Given the description of an element on the screen output the (x, y) to click on. 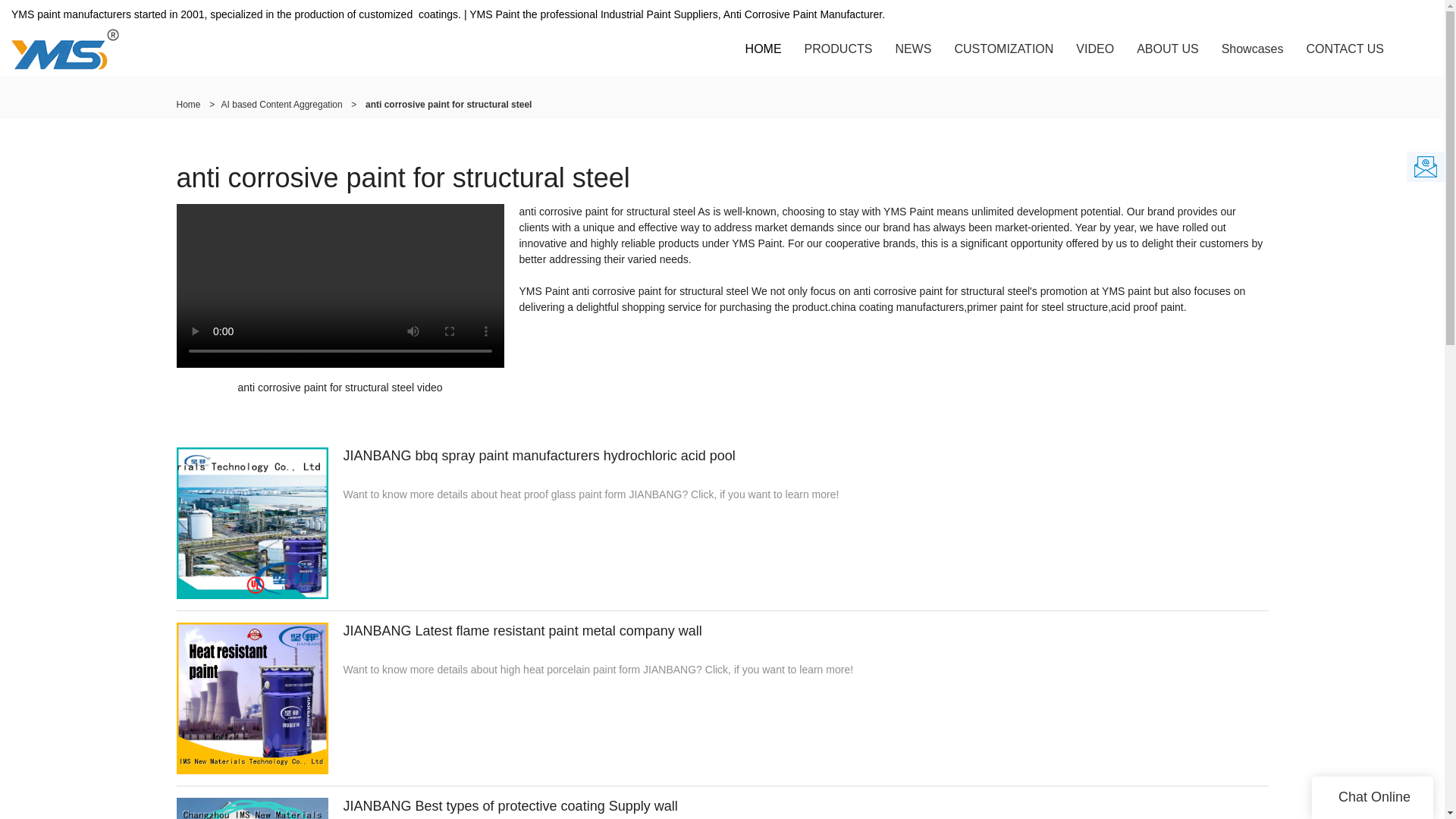
CUSTOMIZATION (1002, 49)
AI based Content Aggregation (281, 104)
ABOUT US (1167, 49)
PRODUCTS (838, 49)
CONTACT US (1345, 49)
Home (188, 104)
Showcases (1252, 49)
